Given the description of an element on the screen output the (x, y) to click on. 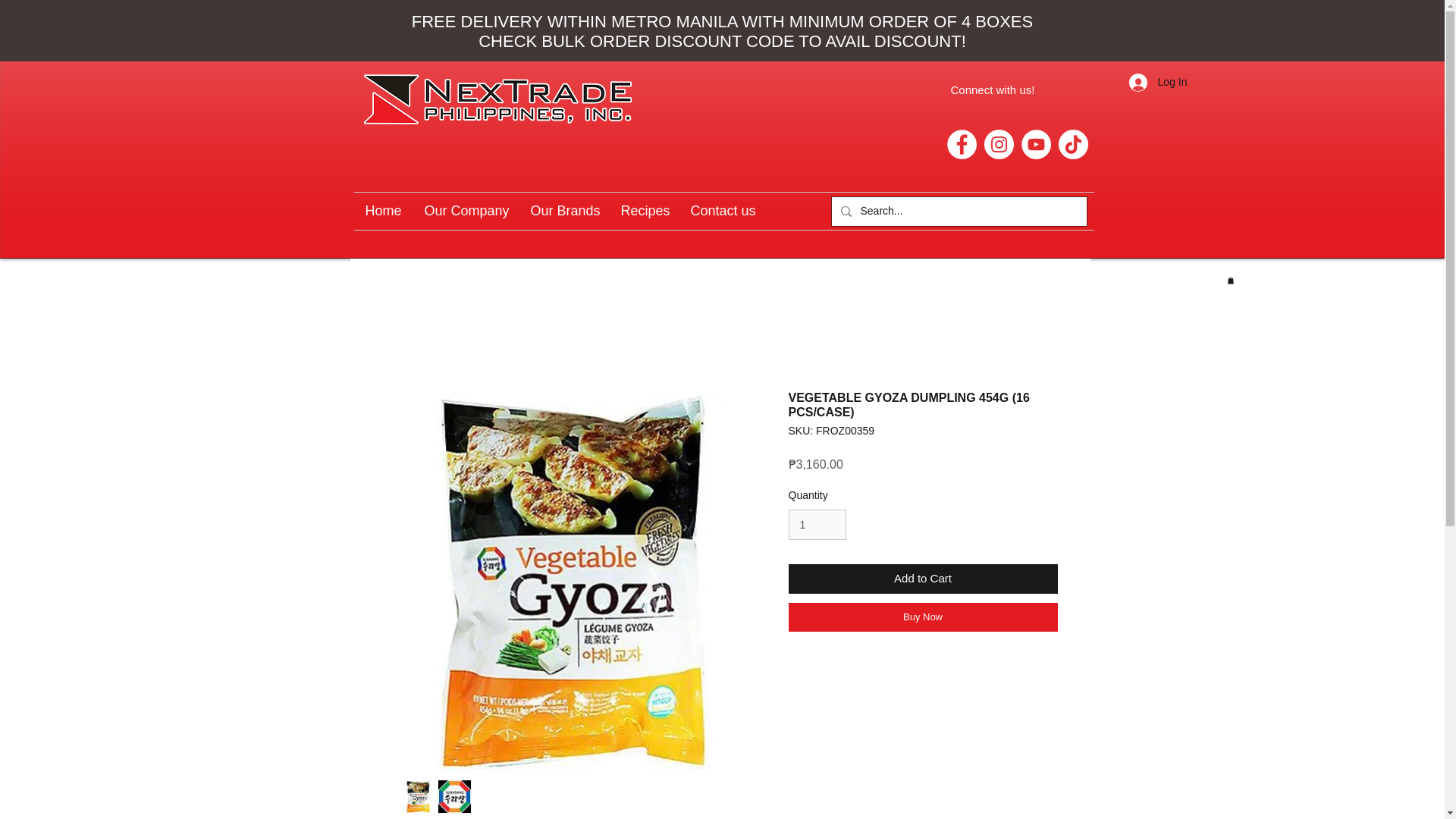
Add to Cart (923, 578)
Log In (1158, 81)
Recipes (644, 211)
Our Brands (563, 211)
Our Company (465, 211)
Home (382, 211)
Contact us (722, 211)
Buy Now (923, 616)
1 (817, 524)
